Given the description of an element on the screen output the (x, y) to click on. 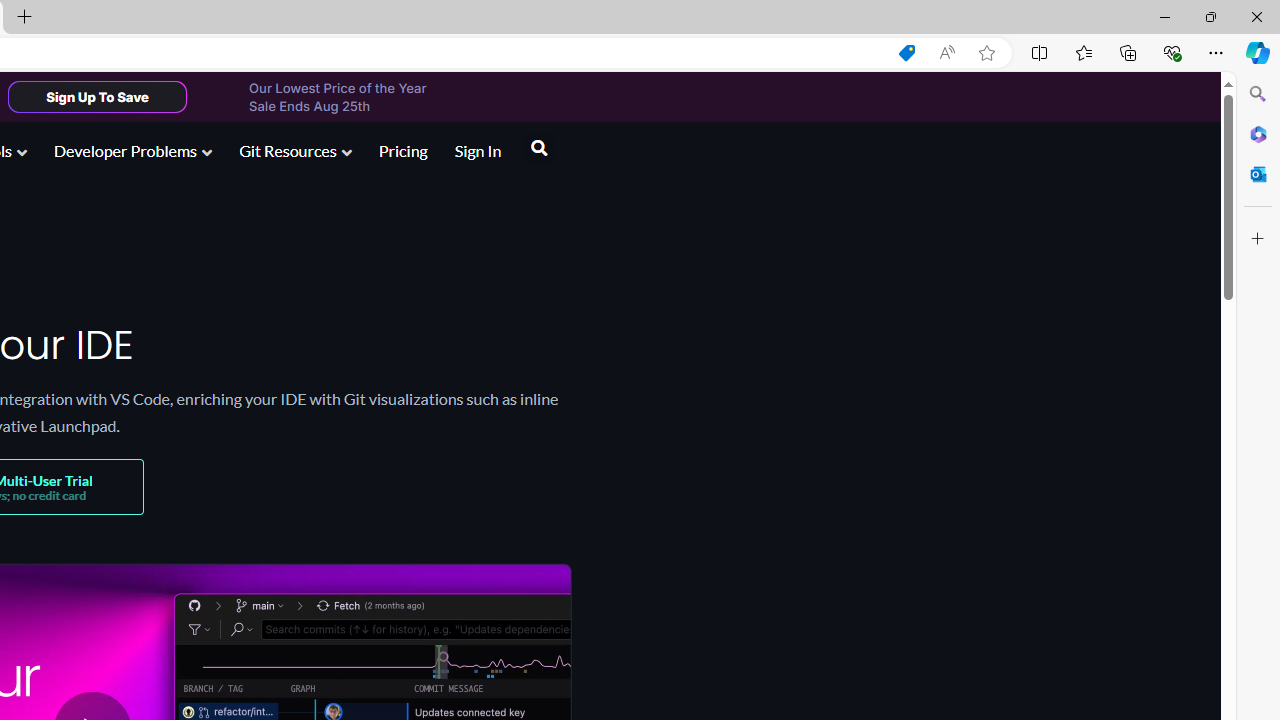
Pricing (403, 152)
Sign In (477, 150)
Sign In (477, 152)
